Given the description of an element on the screen output the (x, y) to click on. 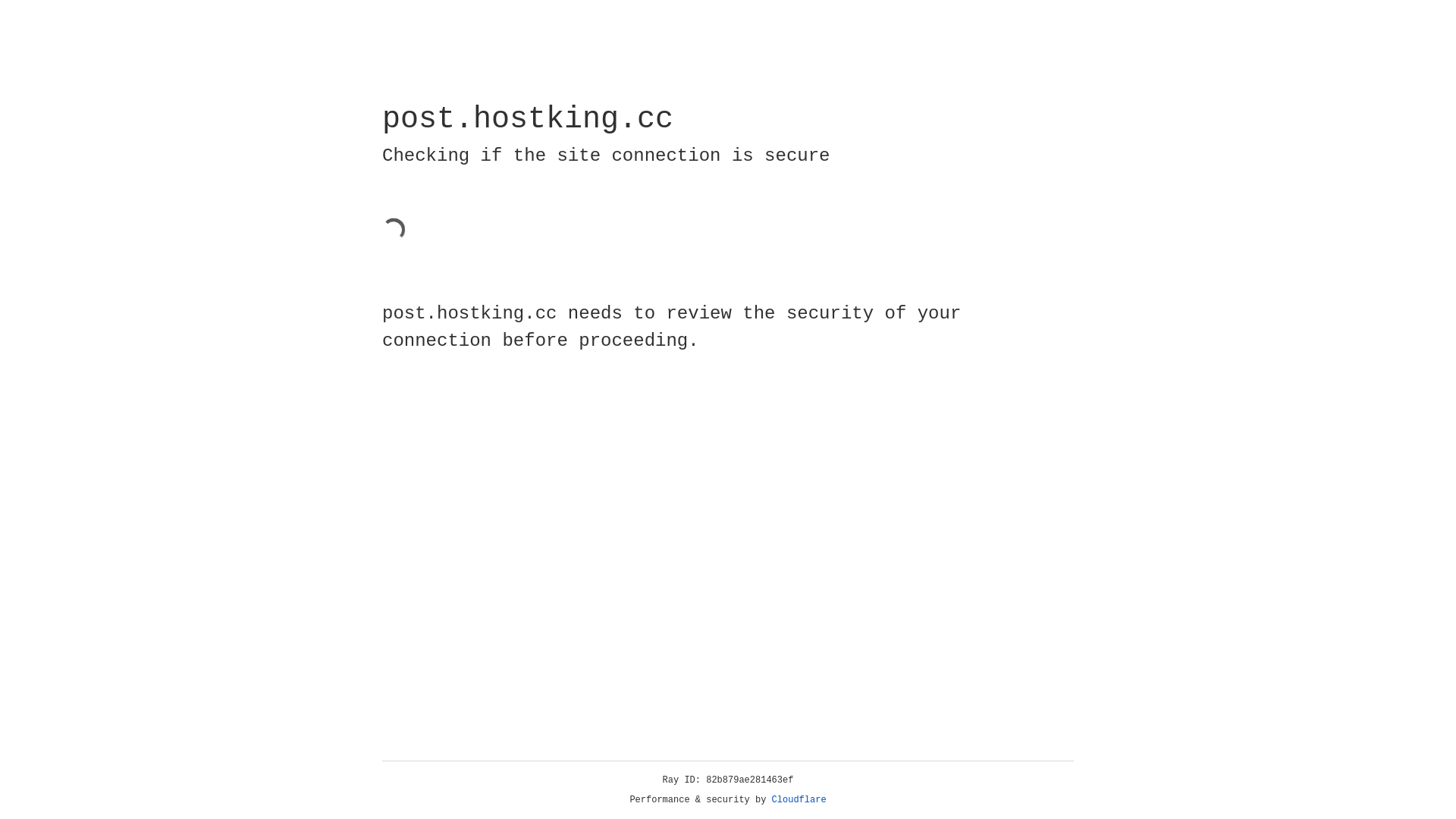
Cloudflare Element type: text (798, 799)
